Given the description of an element on the screen output the (x, y) to click on. 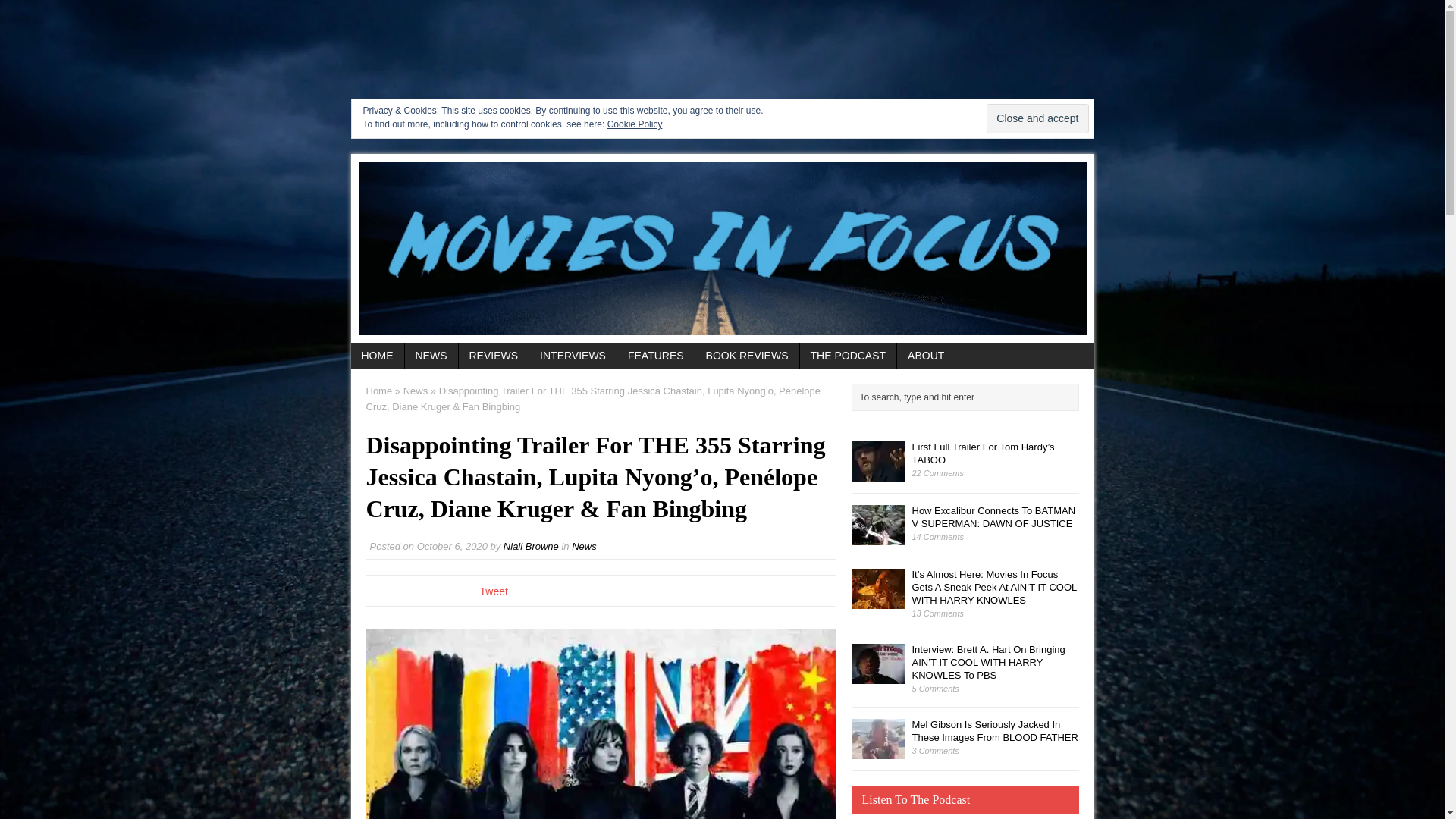
INTERVIEWS (572, 355)
HOME (376, 355)
THE PODCAST (847, 355)
News (415, 390)
Niall Browne (531, 546)
News (584, 546)
FEATURES (655, 355)
NEWS (431, 355)
REVIEWS (493, 355)
Tweet (492, 591)
Home (378, 390)
Close and accept (1037, 118)
BOOK REVIEWS (747, 355)
To search, type and hit enter (968, 397)
